Given the description of an element on the screen output the (x, y) to click on. 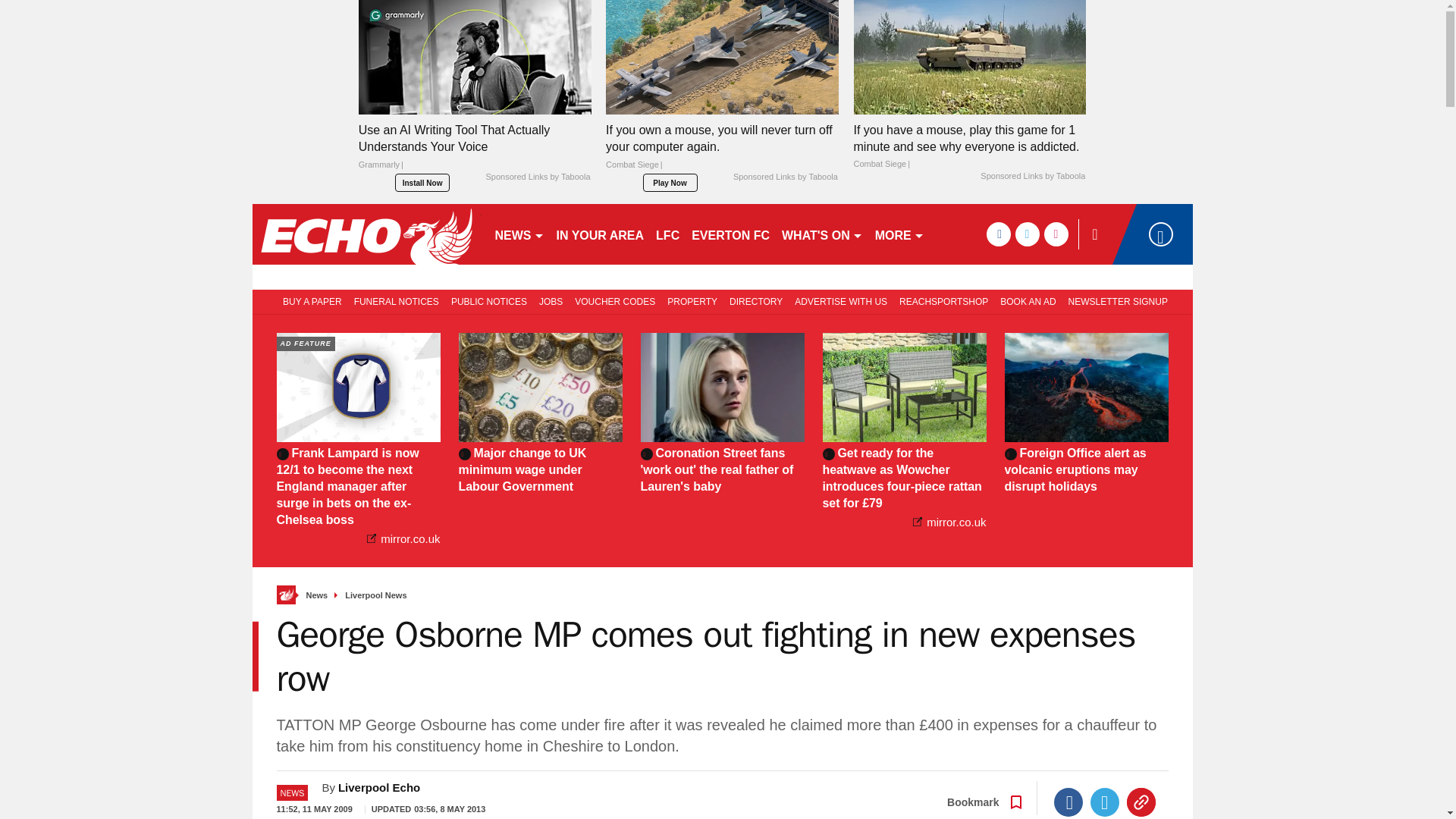
instagram (1055, 233)
WHAT'S ON (822, 233)
Sponsored Links by Taboola (1031, 176)
NEWS (518, 233)
Twitter (1104, 801)
liverpoolecho (365, 233)
twitter (1026, 233)
facebook (997, 233)
Facebook (1068, 801)
EVERTON FC (730, 233)
IN YOUR AREA (600, 233)
Install Now (421, 182)
Use an AI Writing Tool That Actually Understands Your Voice (474, 151)
